Given the description of an element on the screen output the (x, y) to click on. 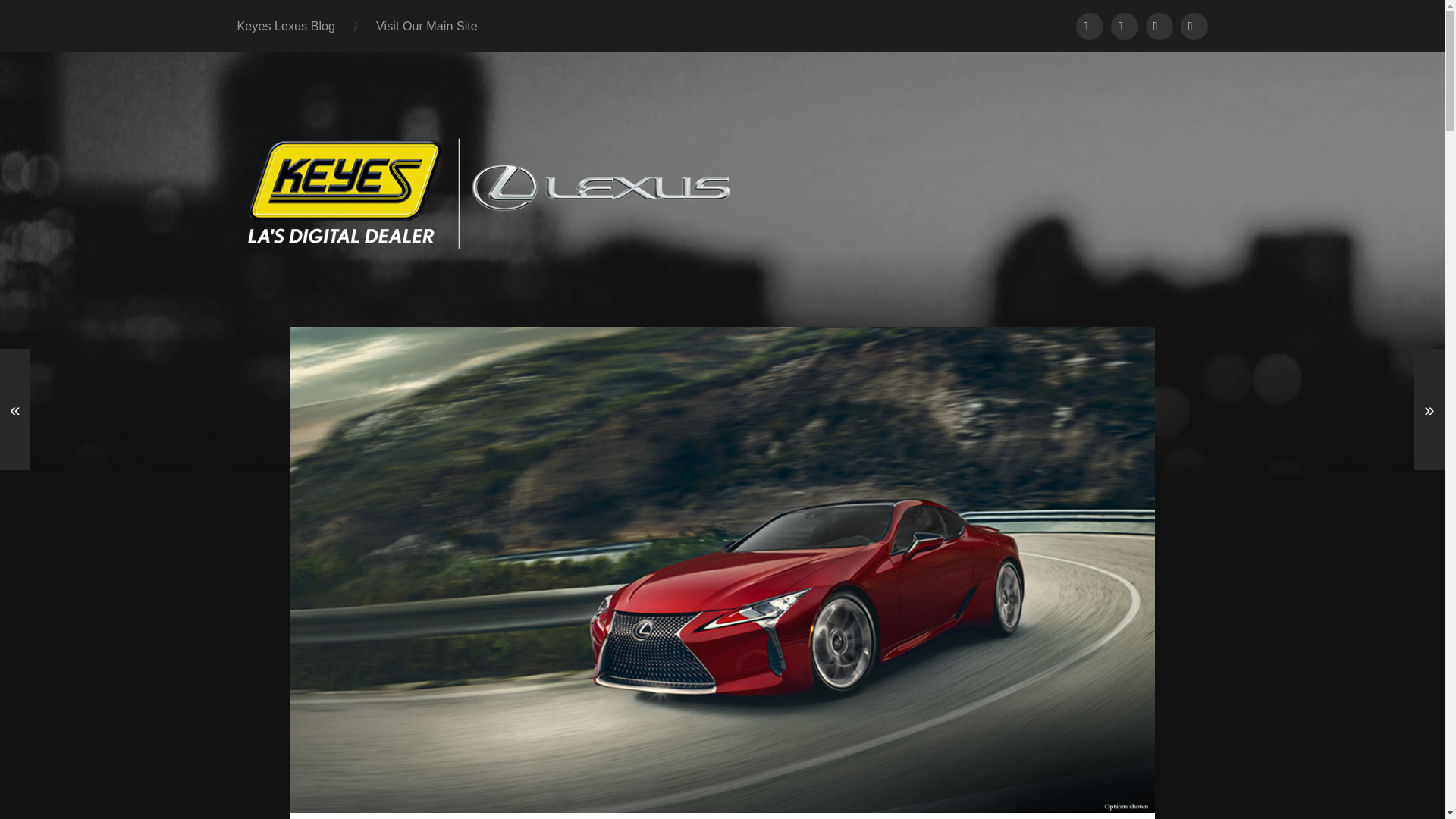
Visit Our Main Site (426, 26)
YouTube (1088, 25)
Facebook (1158, 25)
Twitter (1193, 25)
Keyes Lexus Blog (286, 26)
